Given the description of an element on the screen output the (x, y) to click on. 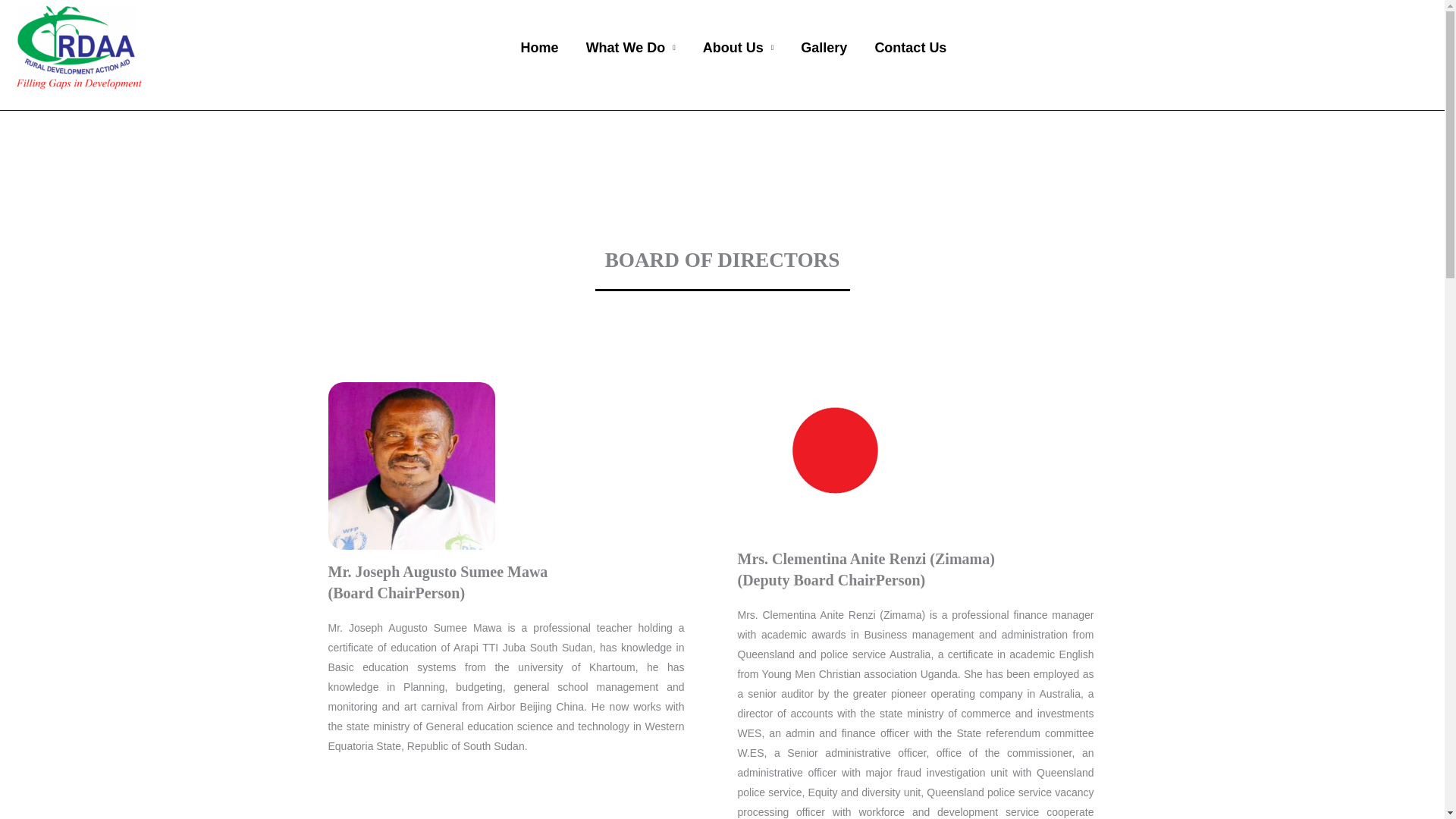
Gallery (823, 47)
What We Do (630, 47)
japan (834, 449)
Screenshot 2022-03-05 at 15.56.12 (411, 465)
Home (539, 47)
About Us (737, 47)
Contact Us (909, 47)
